Given the description of an element on the screen output the (x, y) to click on. 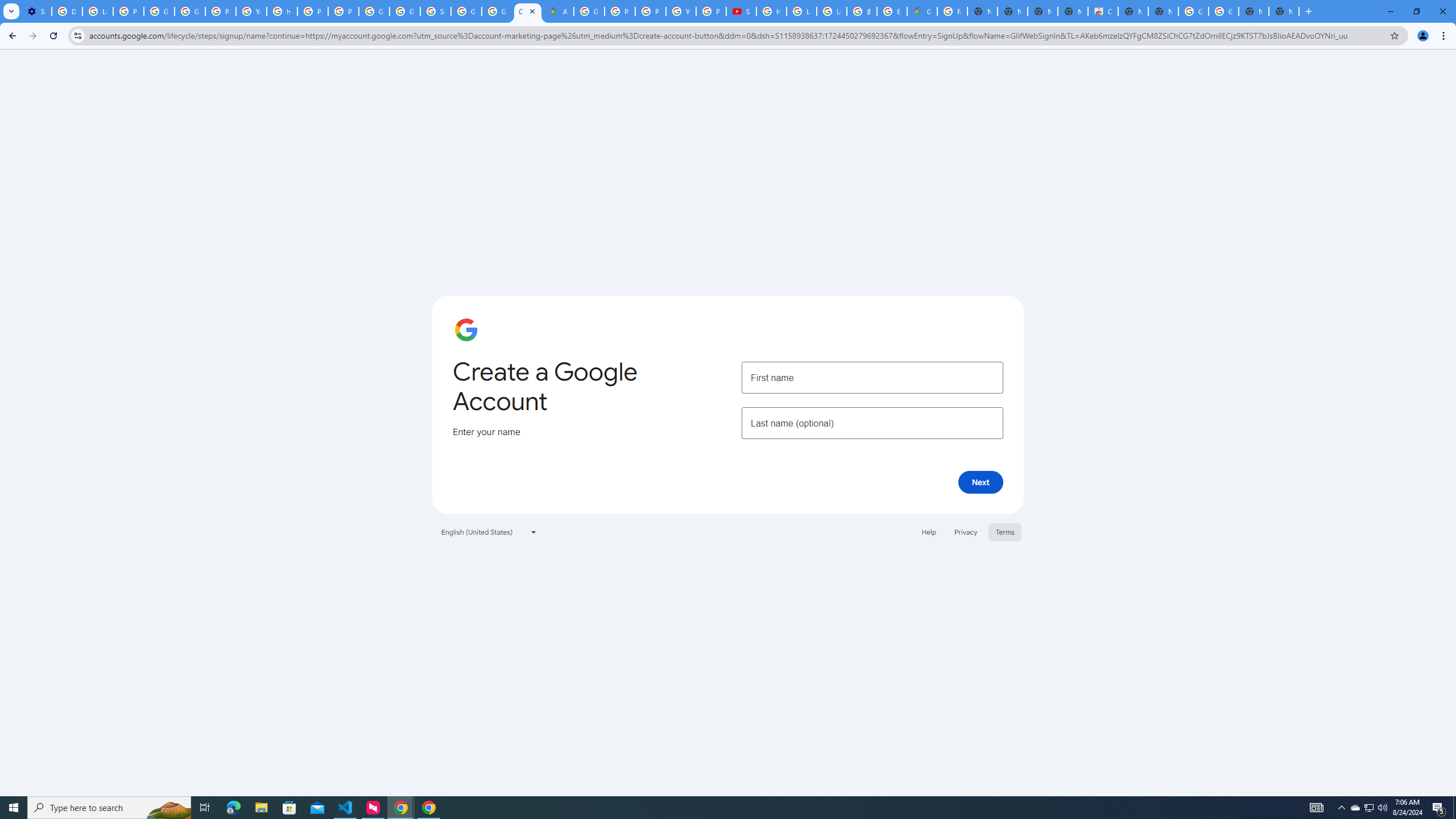
Explore new street-level details - Google Maps Help (892, 11)
Chrome Web Store (1102, 11)
Google Maps (922, 11)
Privacy Help Center - Policies Help (312, 11)
How Chrome protects your passwords - Google Chrome Help (771, 11)
